Given the description of an element on the screen output the (x, y) to click on. 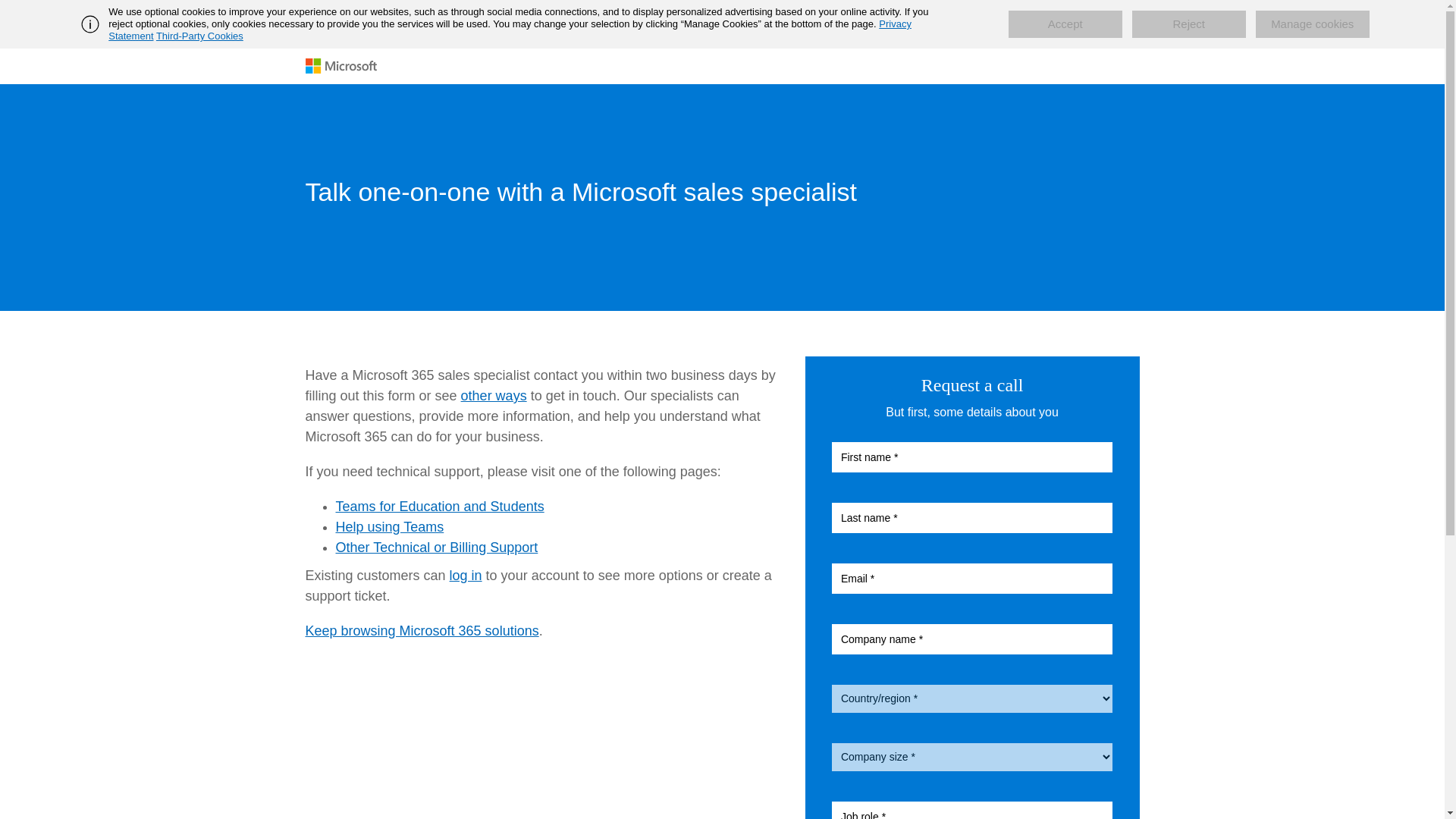
Keep browsing Microsoft 365 solutions (421, 630)
Manage cookies (1312, 23)
Reject (1189, 23)
Accept (1065, 23)
Other Technical or Billing Support (435, 547)
log in (465, 575)
Third-Party Cookies (199, 35)
Teams for Education and Students (438, 506)
other ways (494, 395)
Privacy Statement (509, 29)
